Given the description of an element on the screen output the (x, y) to click on. 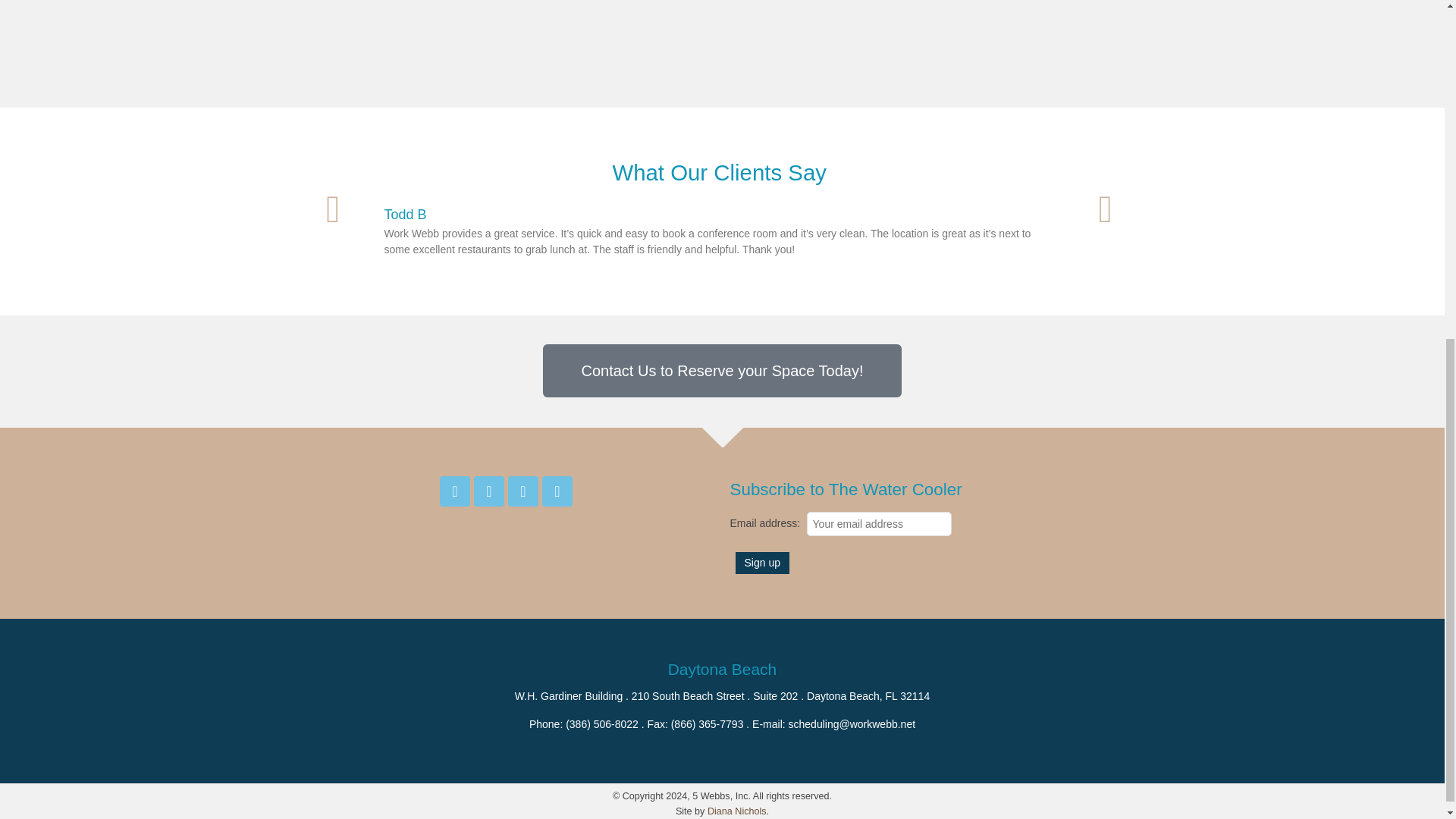
Diana Nichols (737, 810)
Sign up (762, 563)
Contact Us to Reserve your Space Today! (722, 370)
Sign up (762, 563)
Todd B (405, 214)
